Given the description of an element on the screen output the (x, y) to click on. 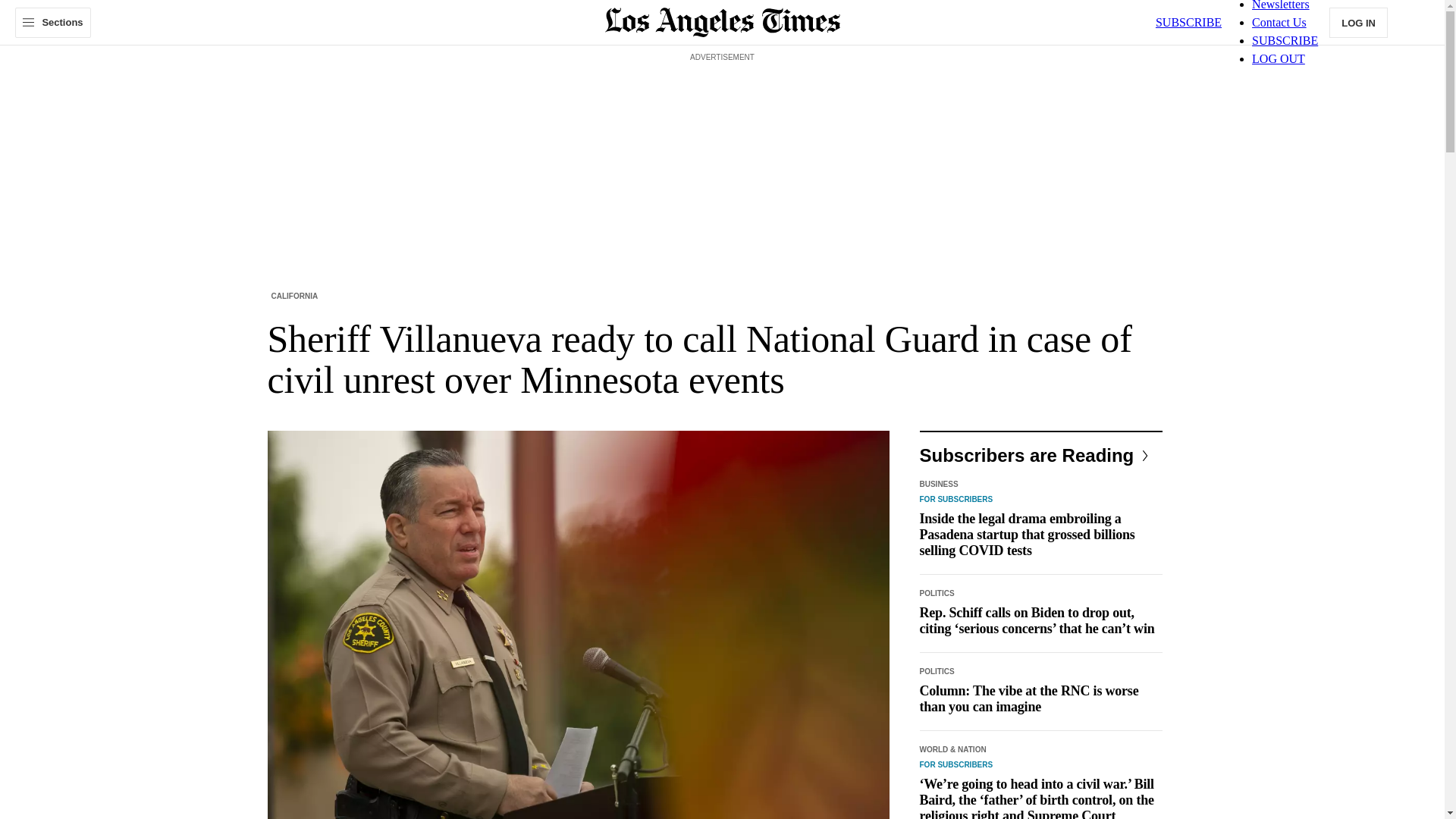
3rd party ad content (721, 100)
